Given the description of an element on the screen output the (x, y) to click on. 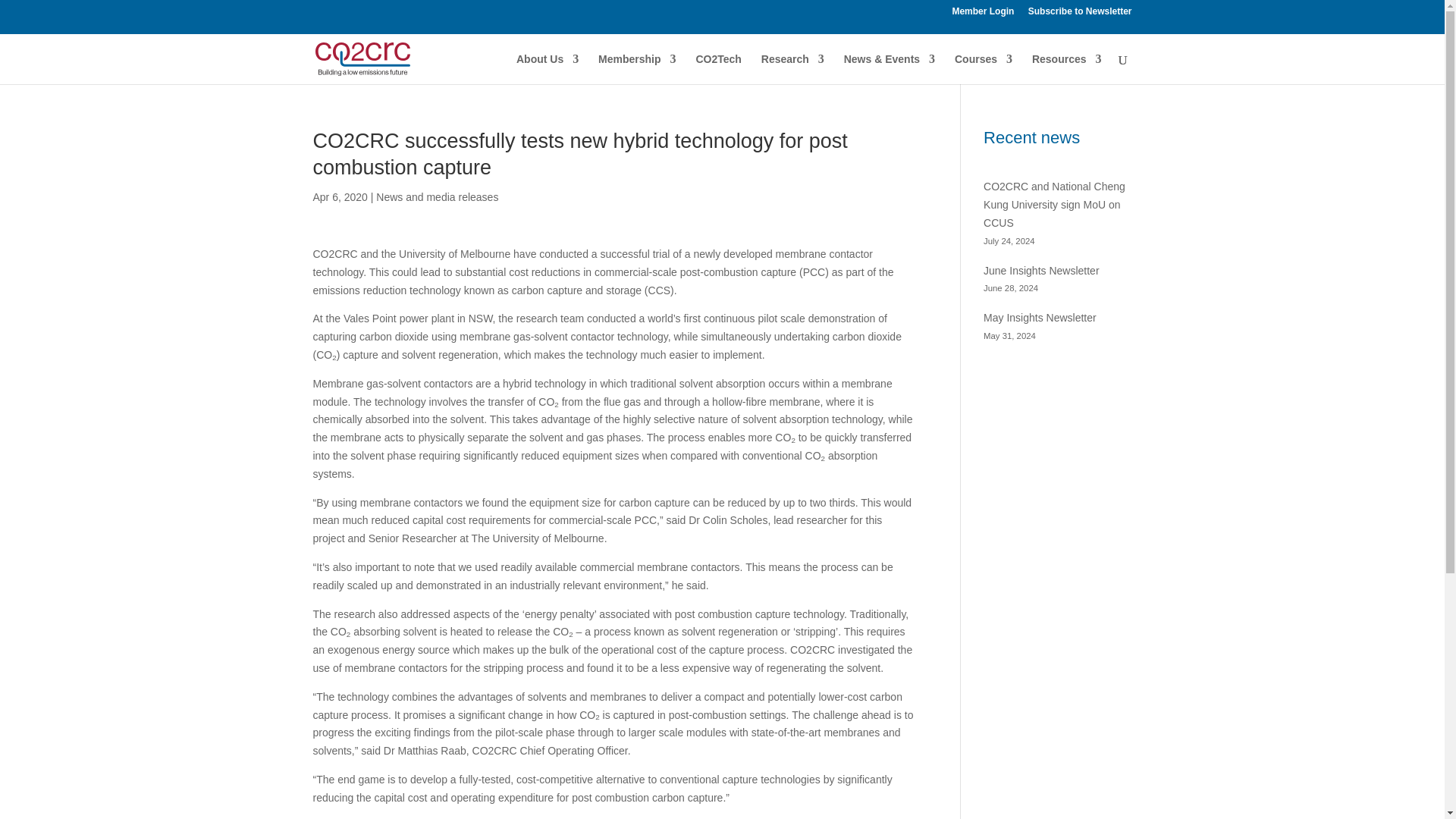
Resources (1067, 69)
About Us (547, 69)
Membership (636, 69)
Member Login (982, 14)
CO2Tech (718, 69)
Courses (983, 69)
Research (792, 69)
Subscribe to Newsletter (1079, 14)
